Given the description of an element on the screen output the (x, y) to click on. 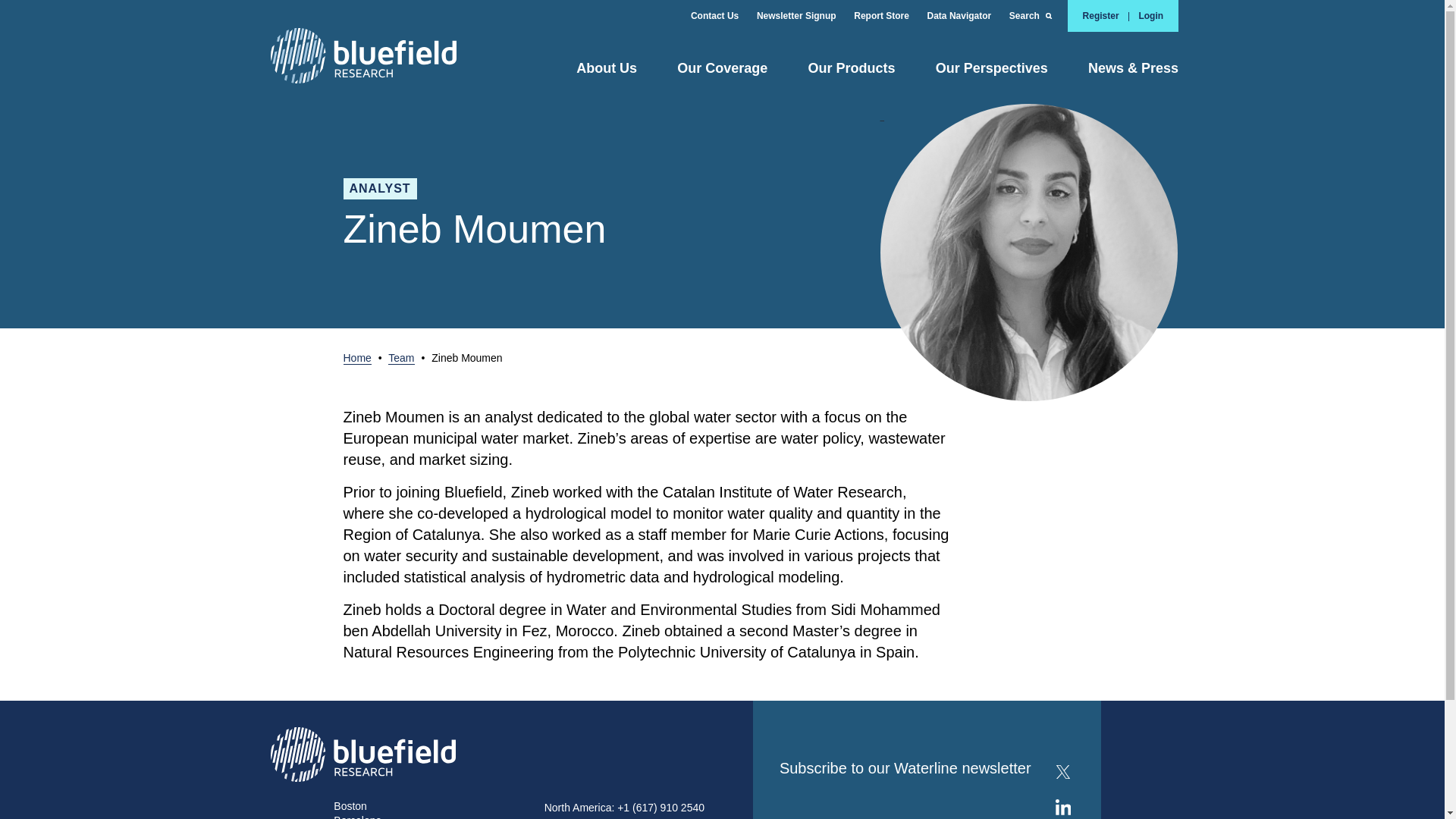
Contact Us (722, 15)
About Us (606, 74)
Newsletter Signup (804, 15)
Register (1101, 15)
Search (1038, 15)
Our Coverage (721, 74)
Data Navigator (967, 15)
Report Store (888, 15)
Login (1150, 15)
